Given the description of an element on the screen output the (x, y) to click on. 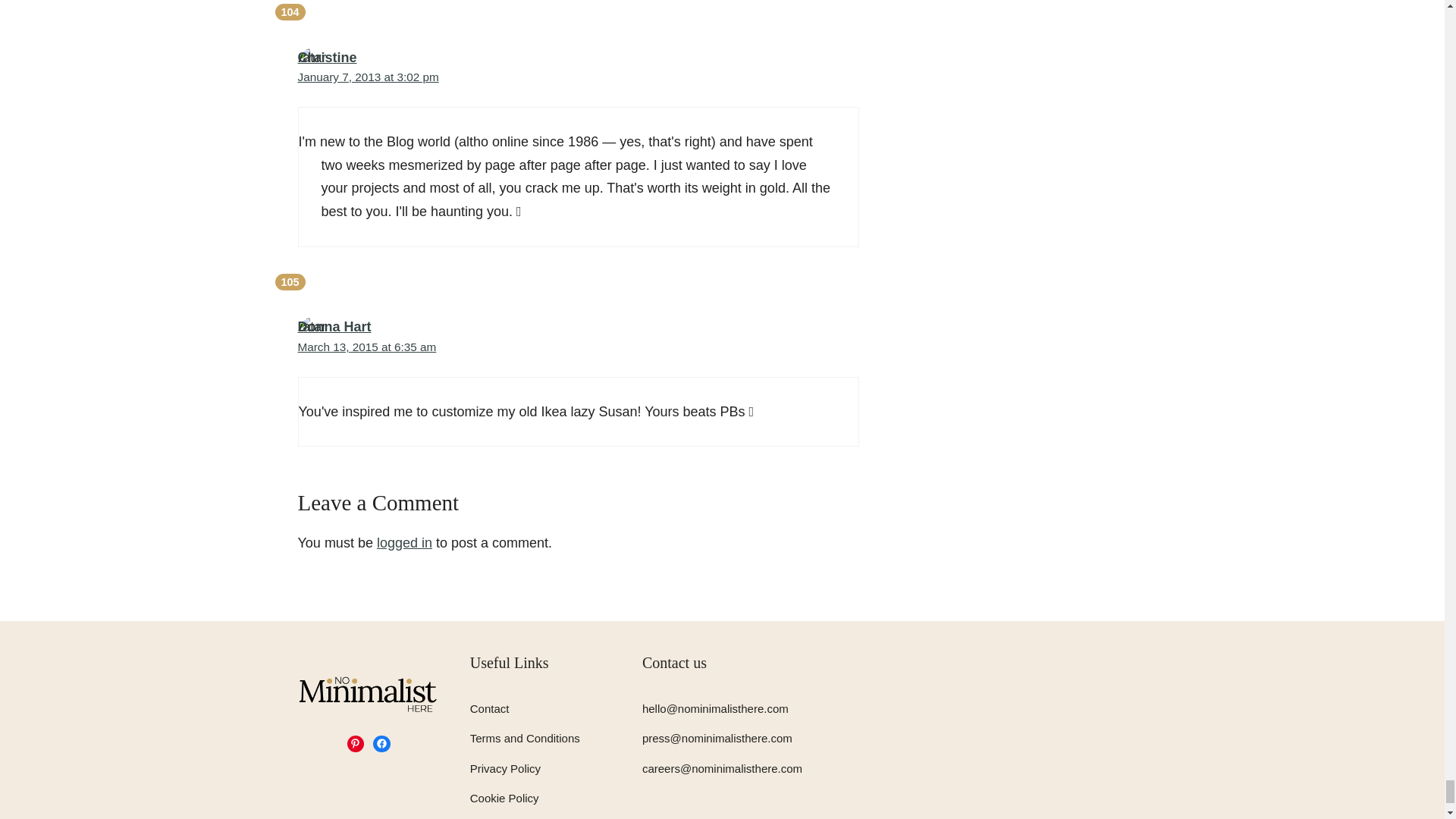
cropped-nominimalisthere-logo.png (368, 693)
